Given the description of an element on the screen output the (x, y) to click on. 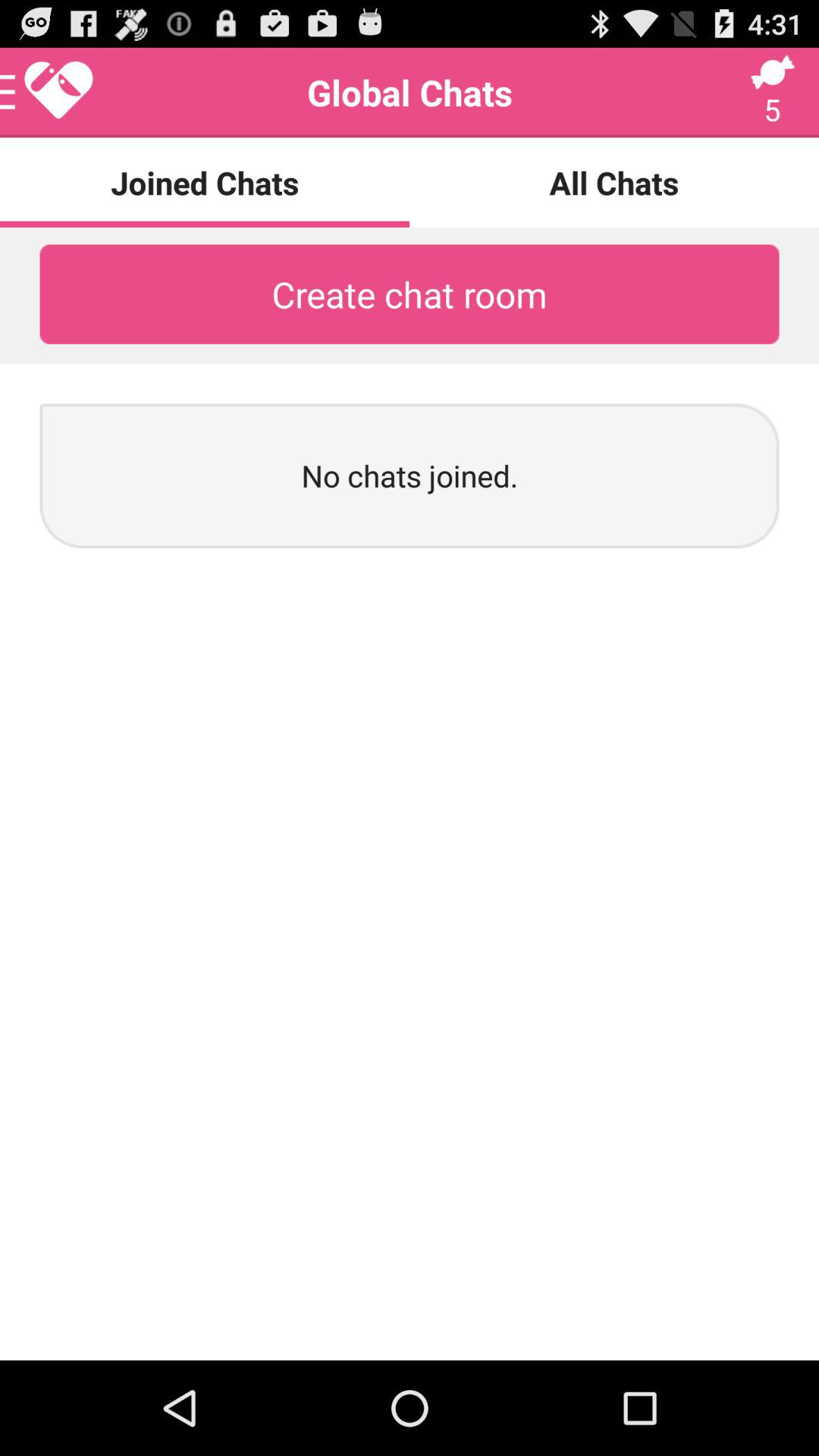
open up menu (47, 92)
